Given the description of an element on the screen output the (x, y) to click on. 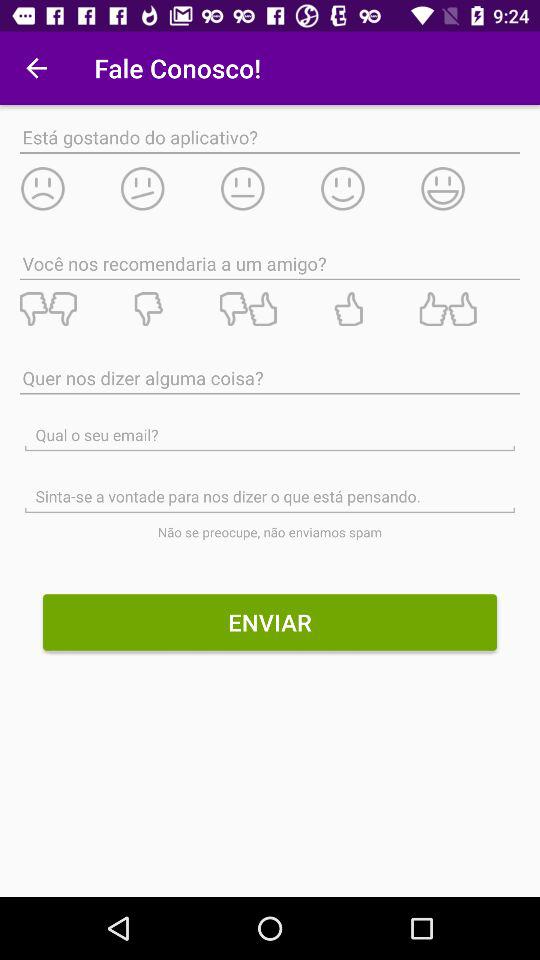
tap enviar icon (269, 622)
